Given the description of an element on the screen output the (x, y) to click on. 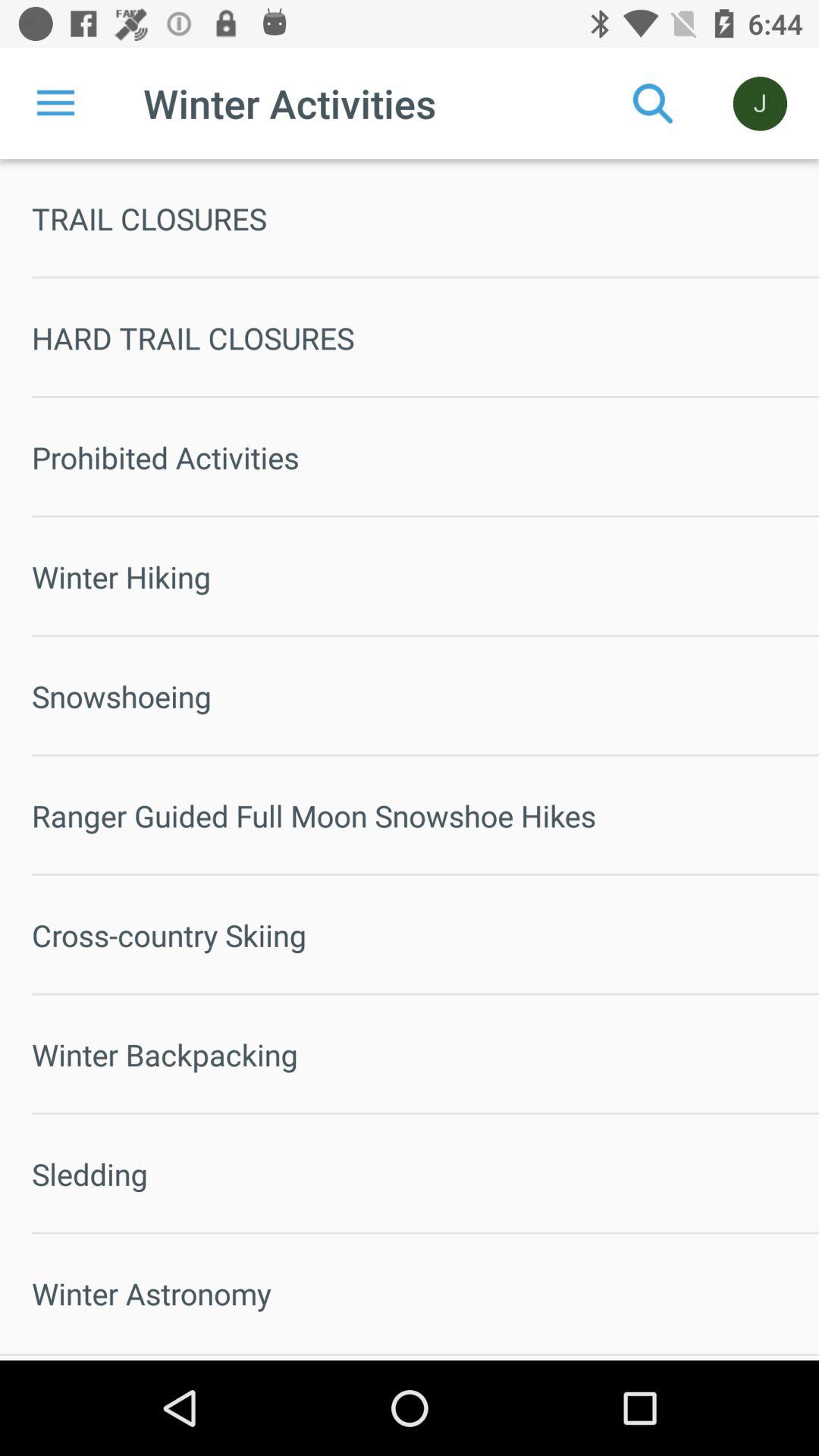
flip until ranger guided full item (425, 815)
